Given the description of an element on the screen output the (x, y) to click on. 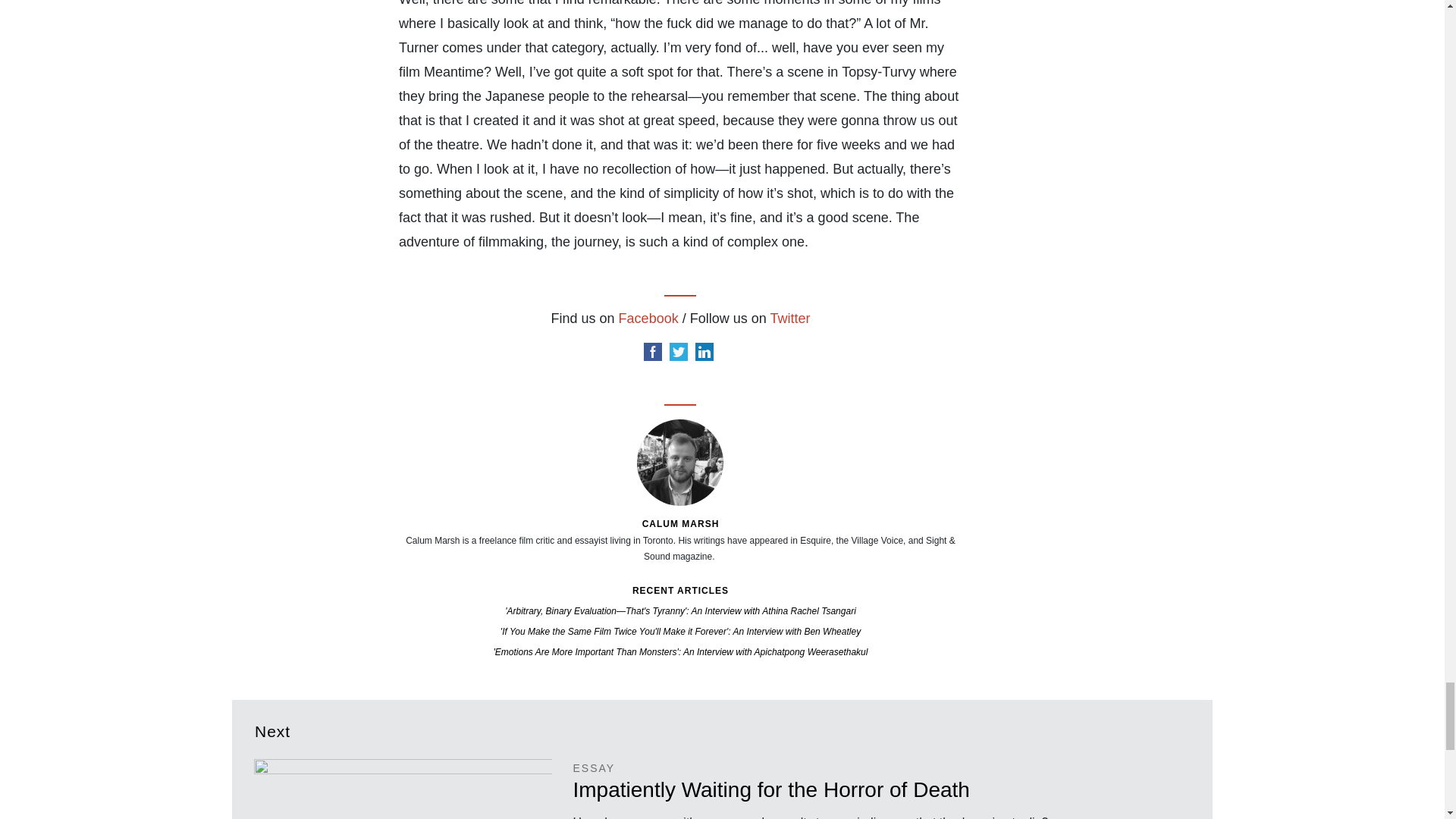
Twitter (678, 352)
Facebook (648, 318)
LinkedIn (704, 352)
Facebook (652, 352)
Twitter (789, 318)
